Given the description of an element on the screen output the (x, y) to click on. 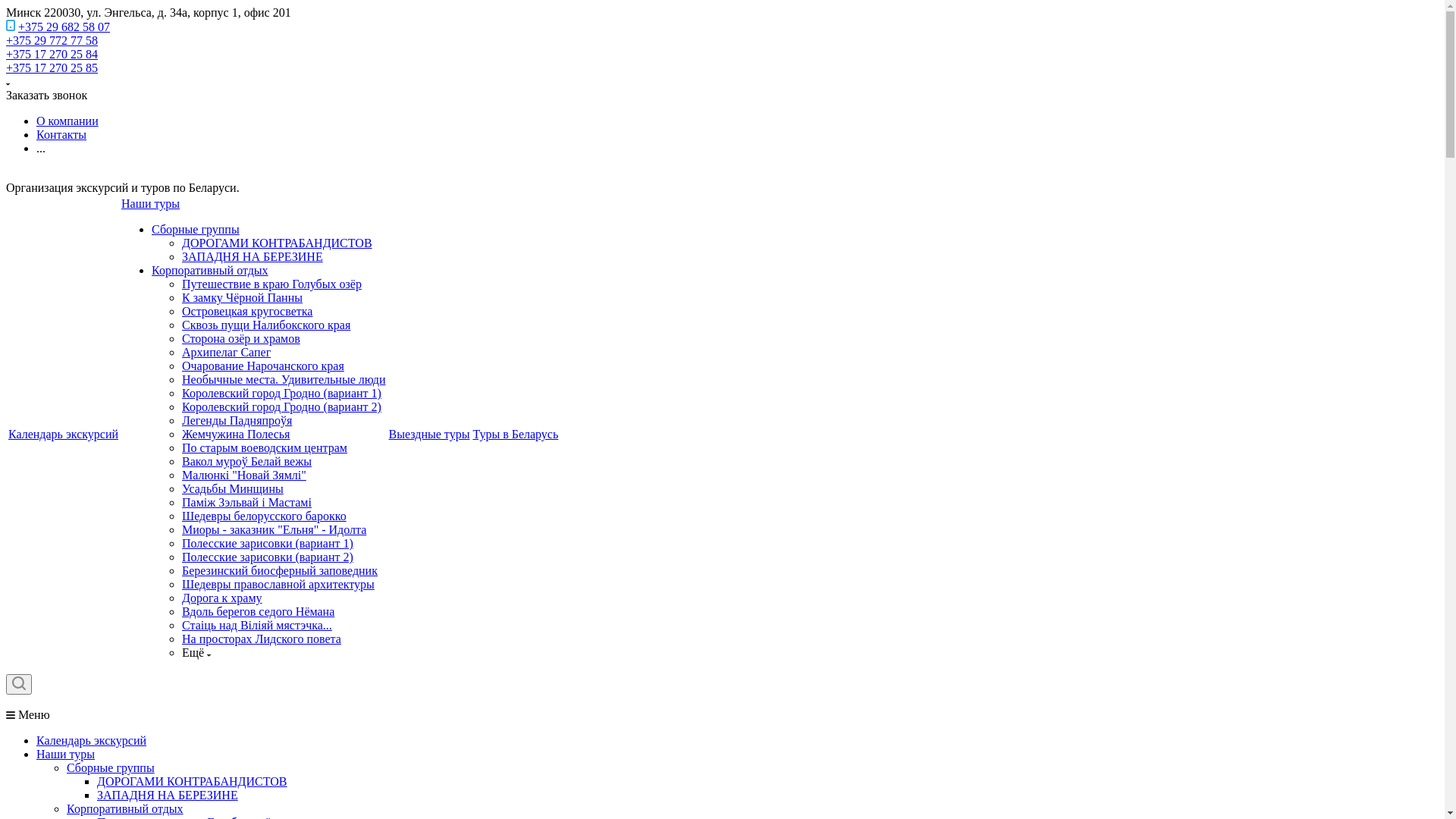
+375 29 772 77 58 Element type: text (51, 40)
+375 29 682 58 07 Element type: text (63, 26)
+375 17 270 25 85 Element type: text (51, 67)
+375 17 270 25 84 Element type: text (51, 53)
